Given the description of an element on the screen output the (x, y) to click on. 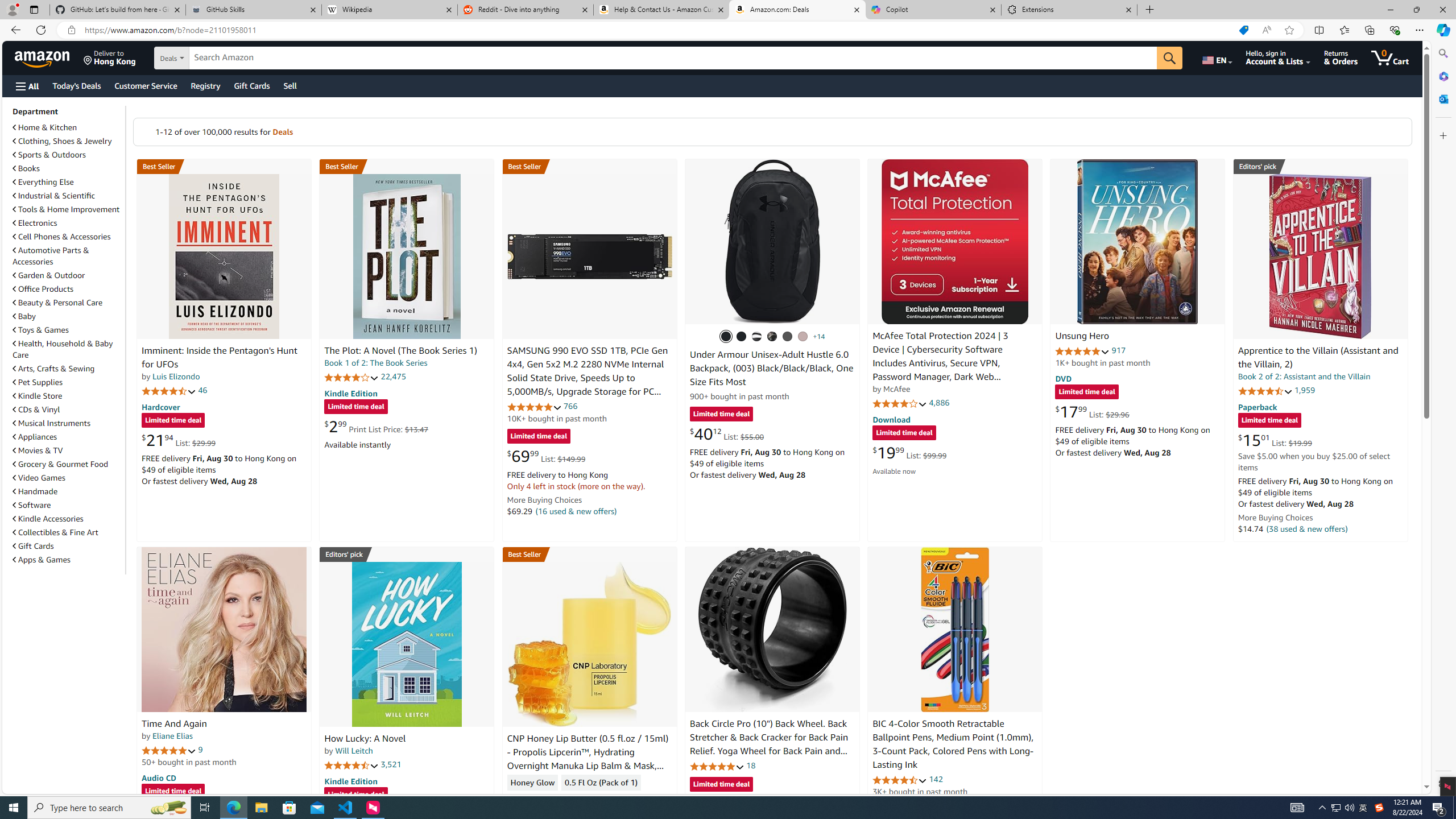
Books (67, 167)
Time And Again (173, 723)
Musical Instruments (67, 423)
Luis Elizondo (175, 376)
Eliane Elias (171, 735)
How Lucky: A Novel (405, 644)
Electronics (34, 222)
Video Games (67, 477)
$69.99 List: $149.99 (545, 455)
Amazon (43, 57)
Home & Kitchen (45, 127)
Unsung Hero (1137, 241)
